Given the description of an element on the screen output the (x, y) to click on. 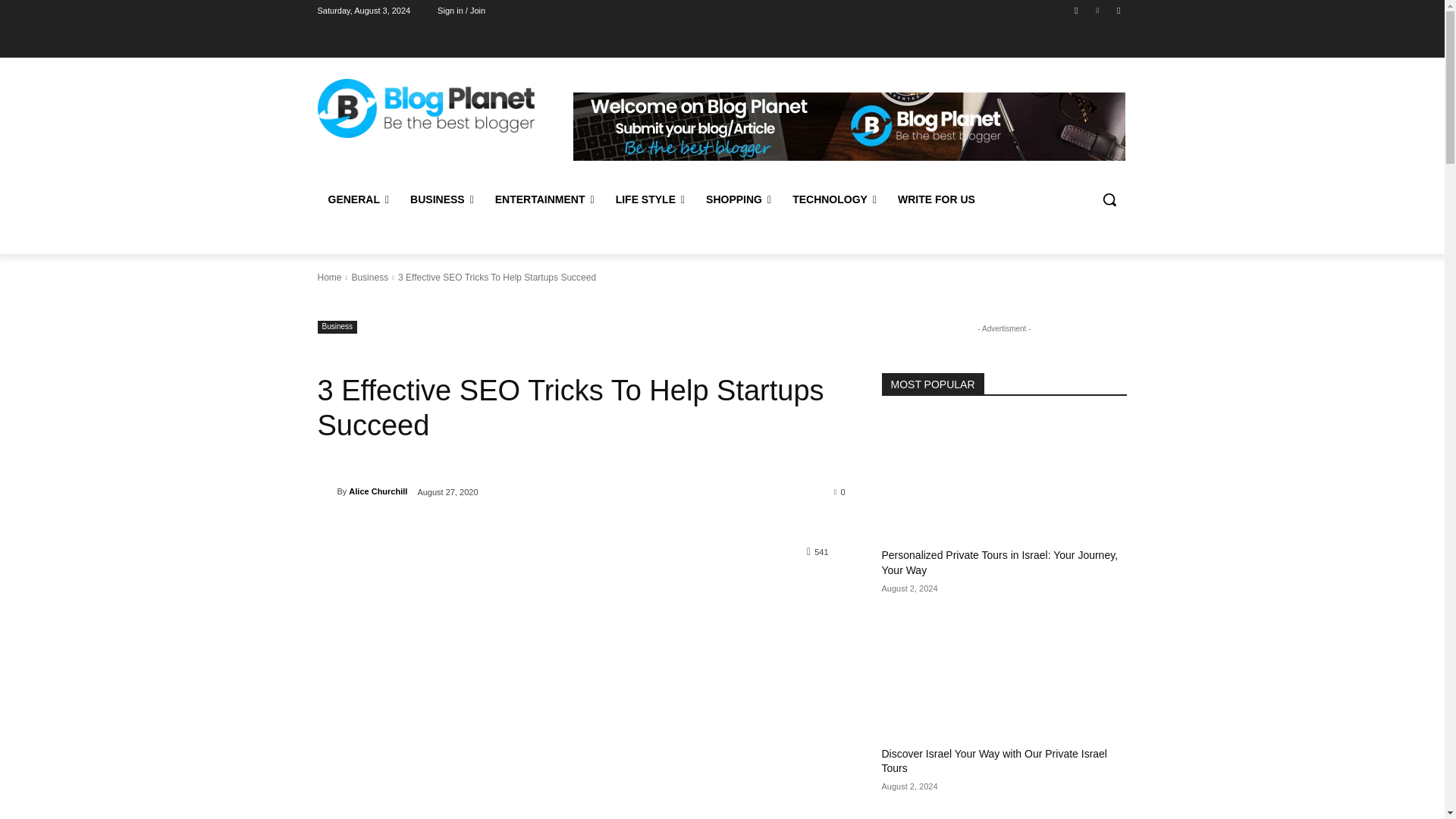
View all posts in Business (369, 276)
Facebook (1075, 9)
Linkedin (1097, 9)
Alice Churchill (326, 491)
GENERAL (357, 198)
Twitter (1117, 9)
